Given the description of an element on the screen output the (x, y) to click on. 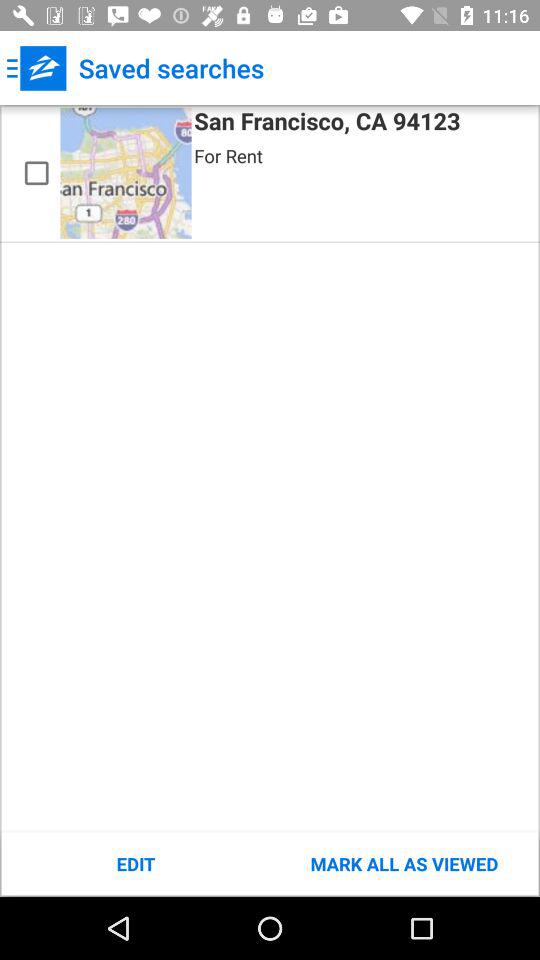
click the item next to edit (404, 863)
